Given the description of an element on the screen output the (x, y) to click on. 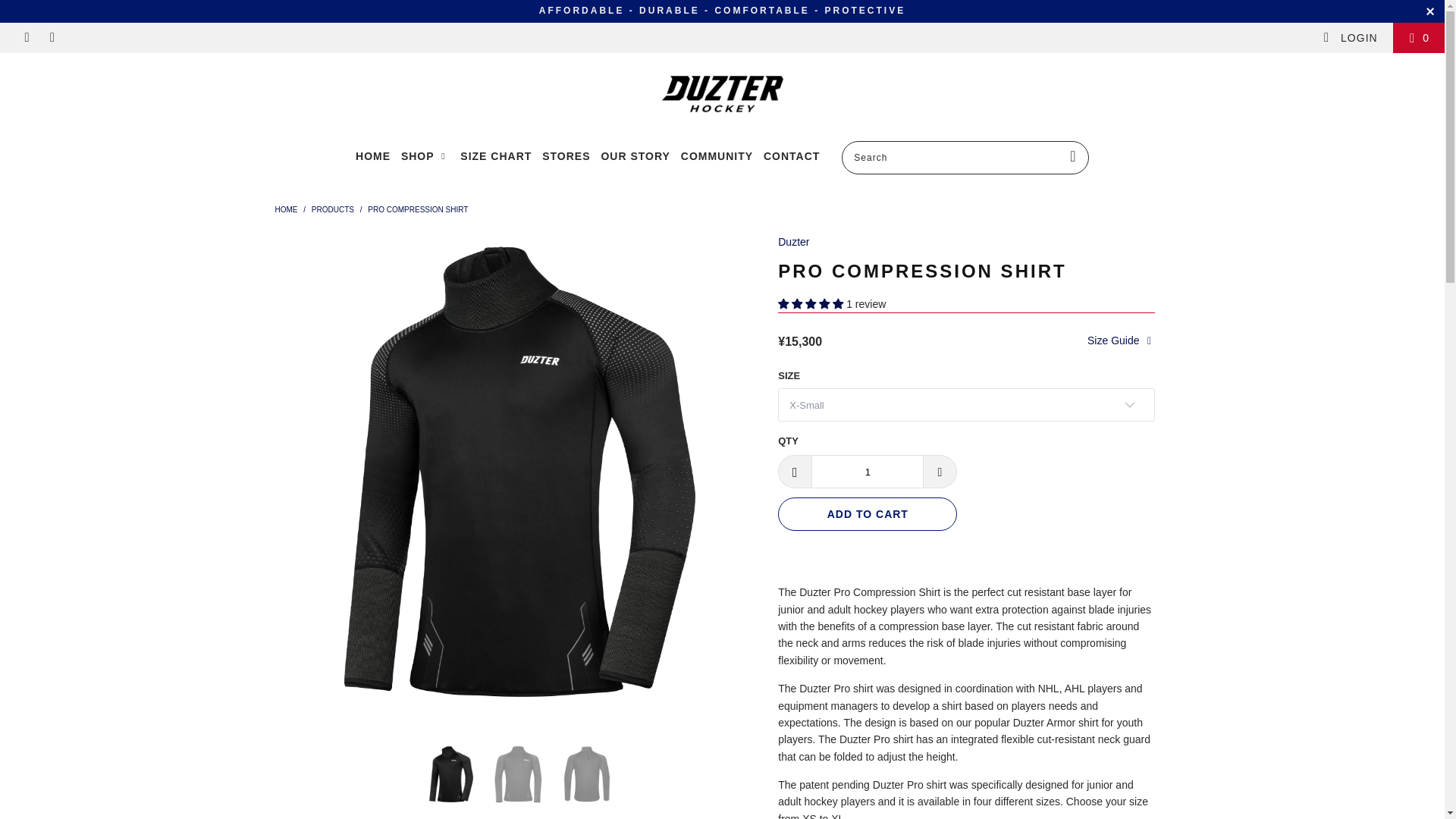
Duzter (793, 241)
Products (332, 209)
My Account  (1350, 37)
duzter on Instagram (51, 37)
1 (866, 471)
duzter (286, 209)
duzter on Facebook (25, 37)
